Given the description of an element on the screen output the (x, y) to click on. 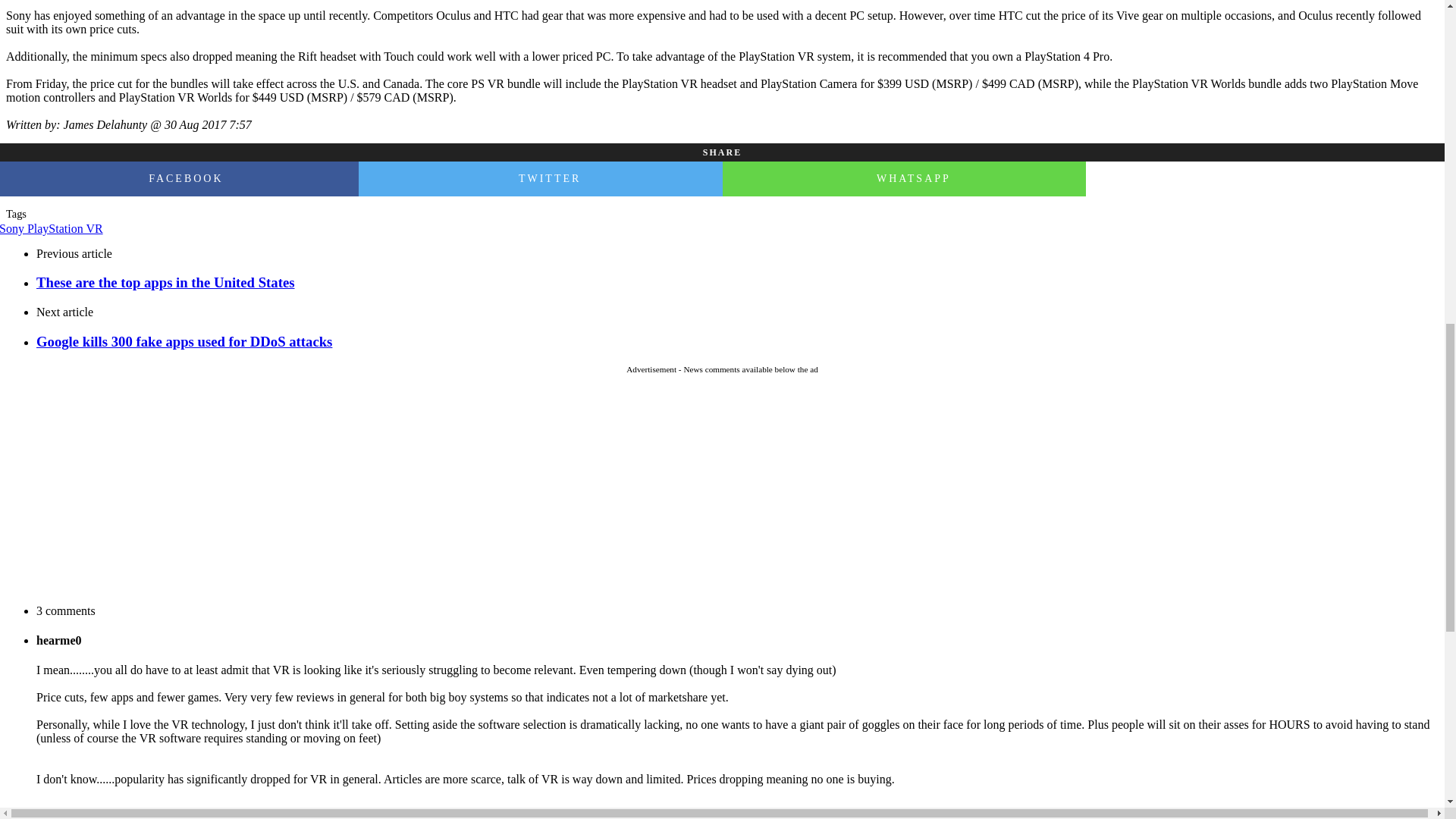
TWITTER (540, 178)
These are the top apps in the United States (737, 282)
WHATSAPP (904, 178)
Sony PlayStation VR (51, 228)
FACEBOOK (179, 178)
Google kills 300 fake apps used for DDoS attacks (737, 341)
Advertisement (721, 490)
